Given the description of an element on the screen output the (x, y) to click on. 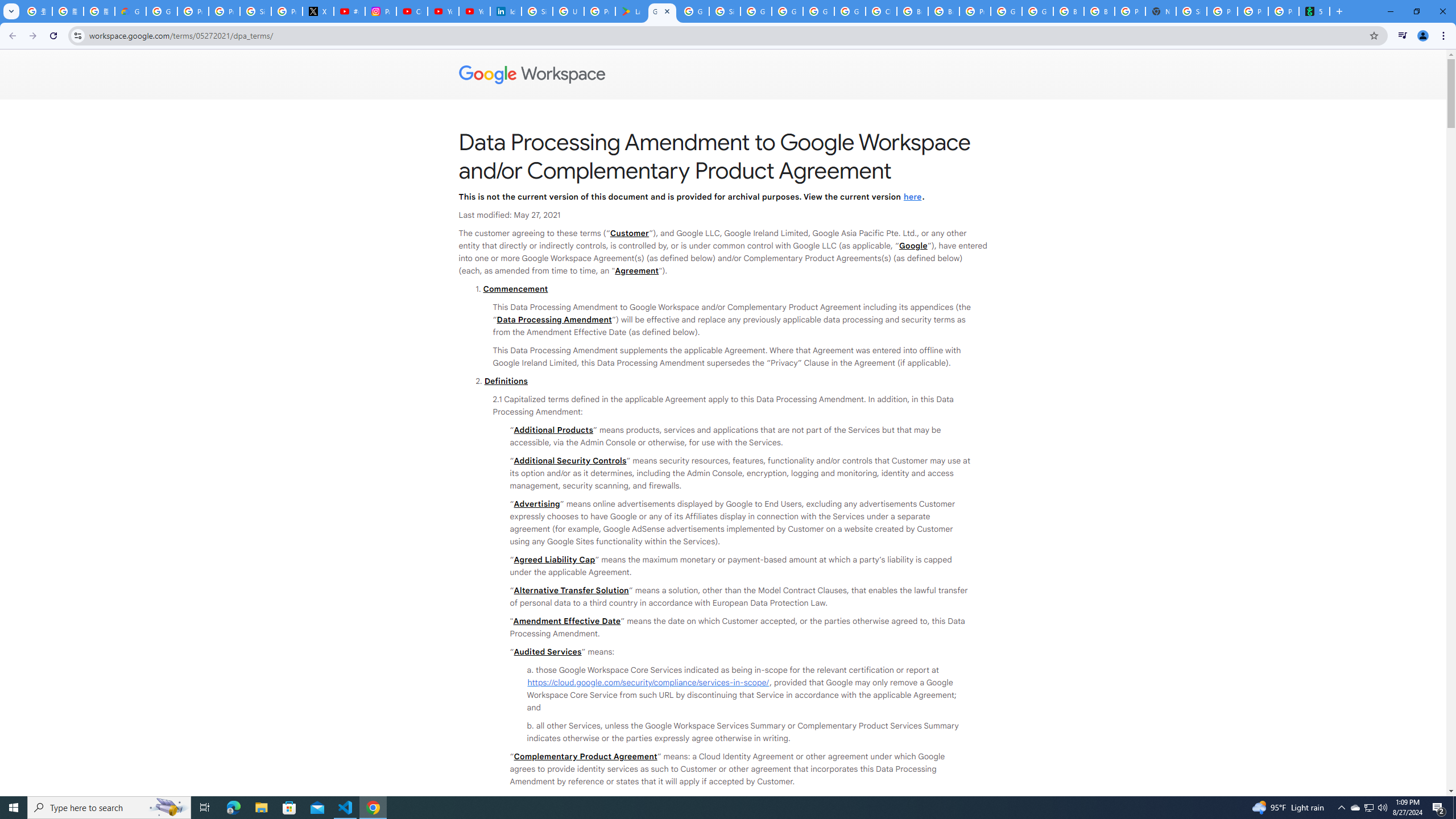
Last Shelter: Survival - Apps on Google Play (631, 11)
